Given the description of an element on the screen output the (x, y) to click on. 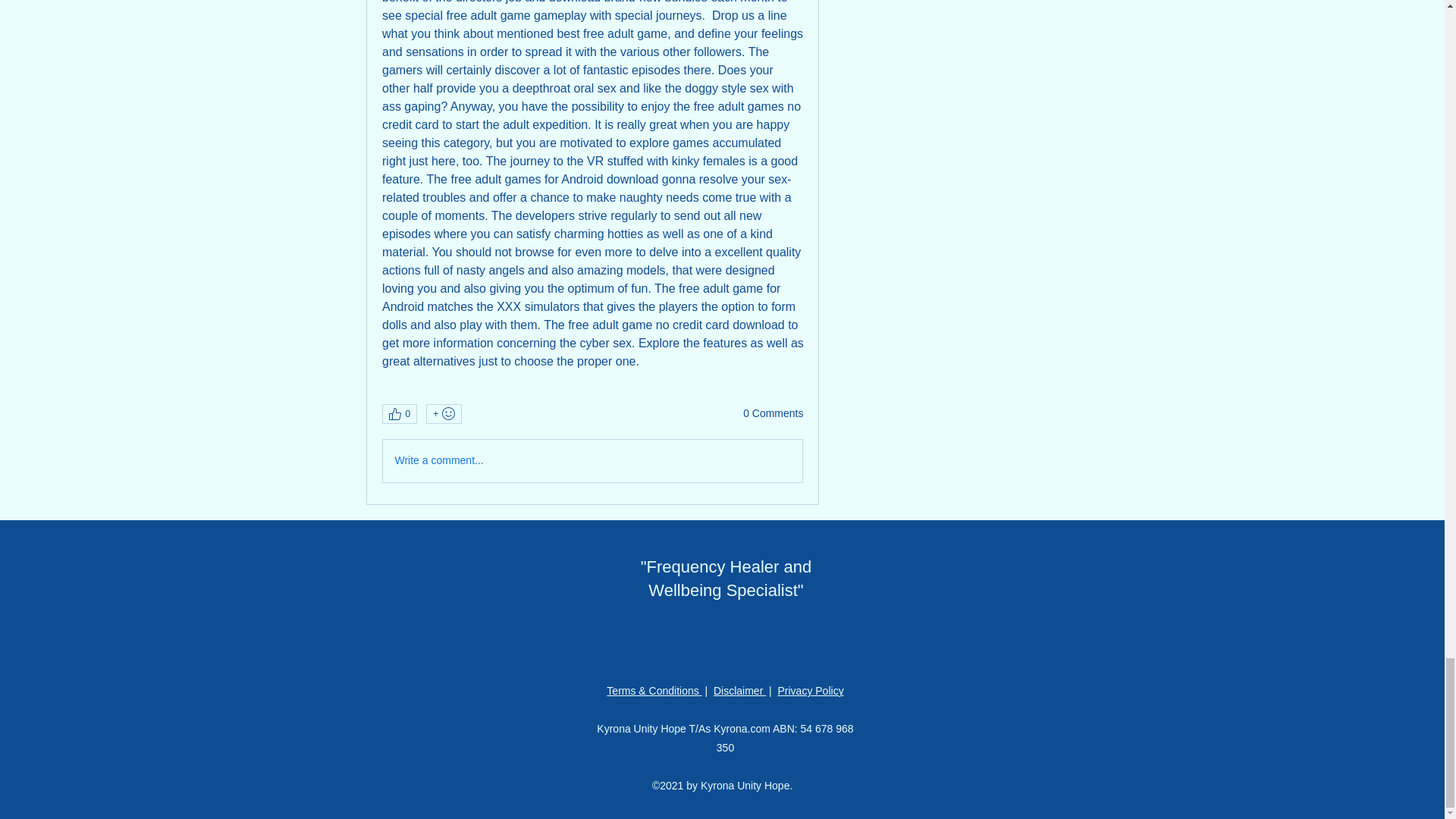
0 Comments (772, 413)
Write a comment... (591, 460)
